Given the description of an element on the screen output the (x, y) to click on. 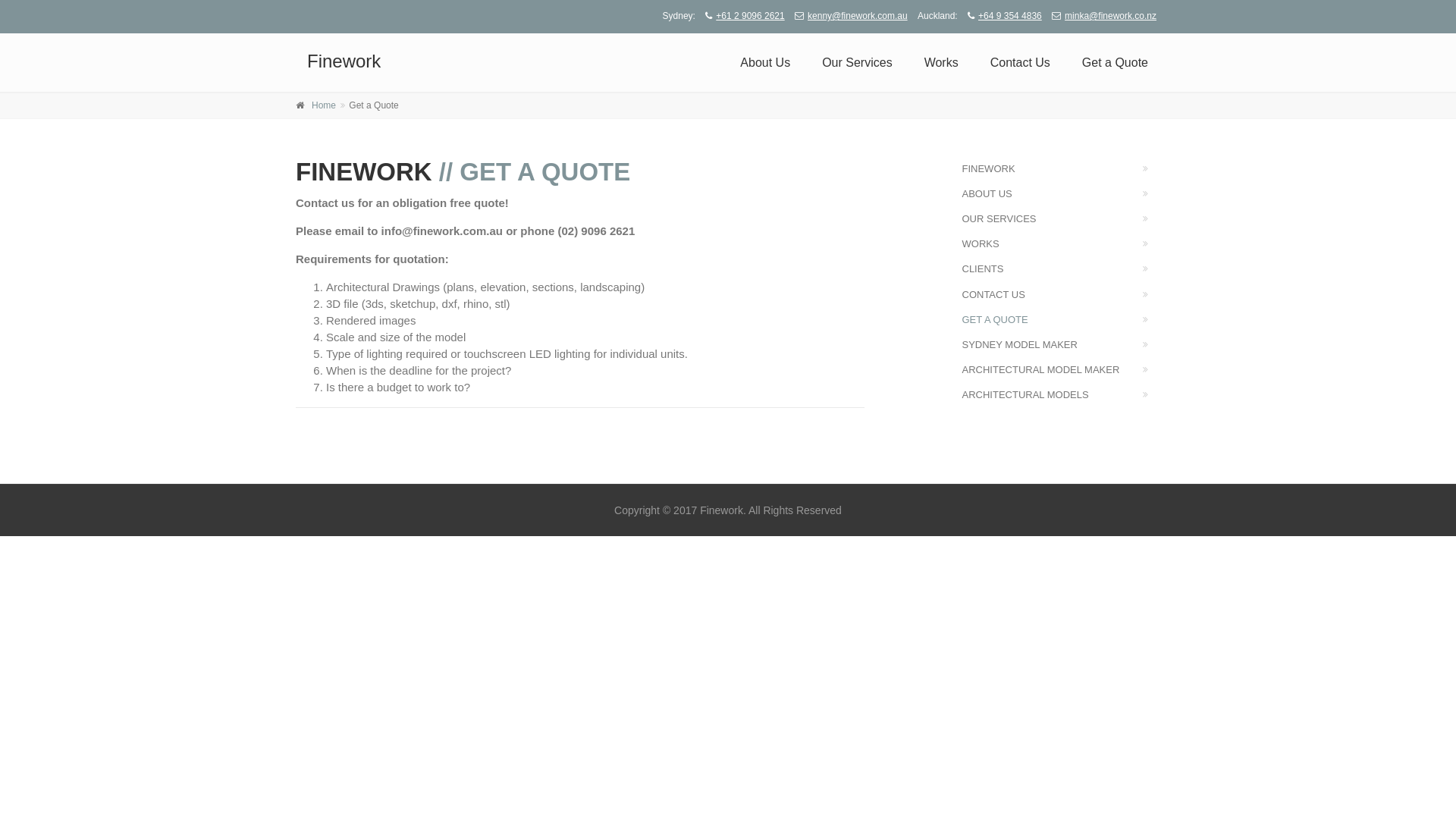
+61 2 9096 2621 Element type: text (740, 15)
Contact Us Element type: text (1020, 62)
Get a Quote Element type: text (1115, 62)
Finework Element type: text (343, 60)
About Us Element type: text (765, 62)
ABOUT US Element type: text (1061, 193)
+64 9 354 4836 Element type: text (1000, 15)
CONTACT US Element type: text (1061, 293)
ARCHITECTURAL MODELS Element type: text (1061, 394)
Works Element type: text (941, 62)
FINEWORK Element type: text (1061, 168)
minka@finework.co.nz Element type: text (1100, 15)
Our Services Element type: text (856, 62)
OUR SERVICES Element type: text (1061, 218)
GET A QUOTE Element type: text (1061, 319)
kenny@finework.com.au Element type: text (847, 15)
Home Element type: text (323, 105)
SYDNEY MODEL MAKER Element type: text (1061, 344)
ARCHITECTURAL MODEL MAKER Element type: text (1061, 369)
WORKS Element type: text (1061, 243)
CLIENTS Element type: text (1061, 268)
